Given the description of an element on the screen output the (x, y) to click on. 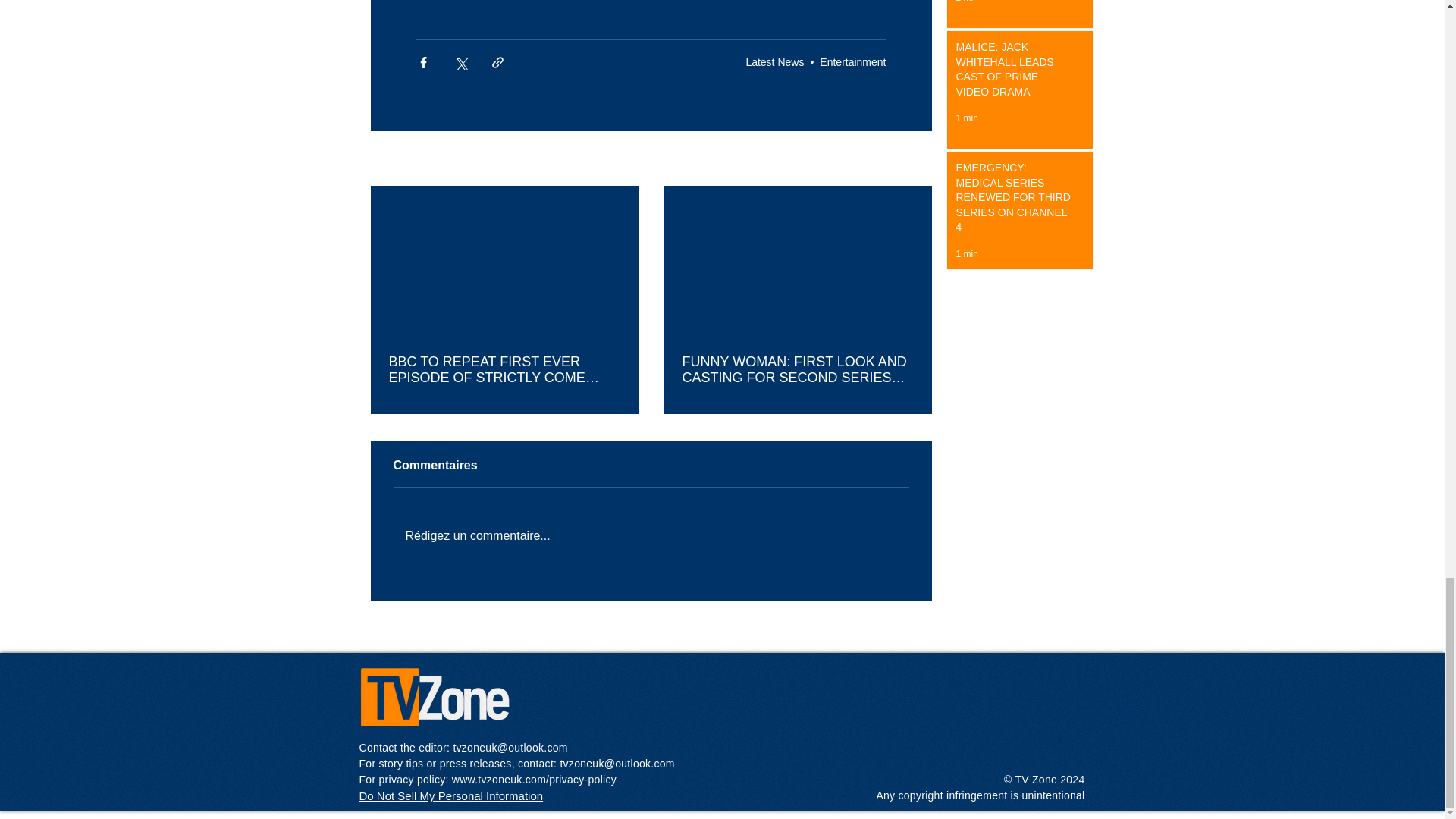
See All (914, 159)
Entertainment (852, 61)
1 min (965, 118)
2 min (965, 1)
BBC TO REPEAT FIRST EVER EPISODE OF STRICTLY COME DANCING (504, 369)
Latest News (774, 61)
